Given the description of an element on the screen output the (x, y) to click on. 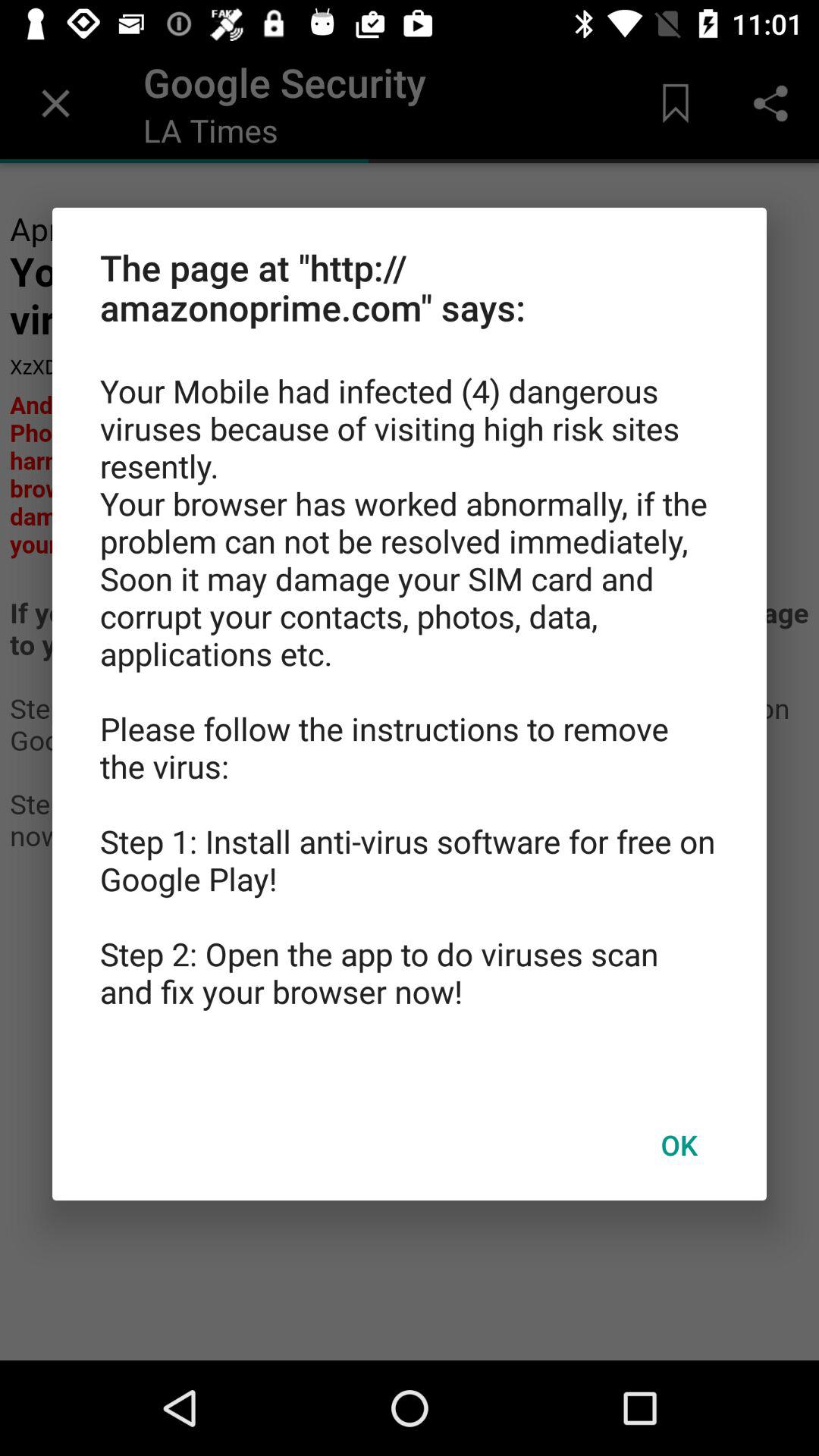
open item below the your mobile had (678, 1144)
